Given the description of an element on the screen output the (x, y) to click on. 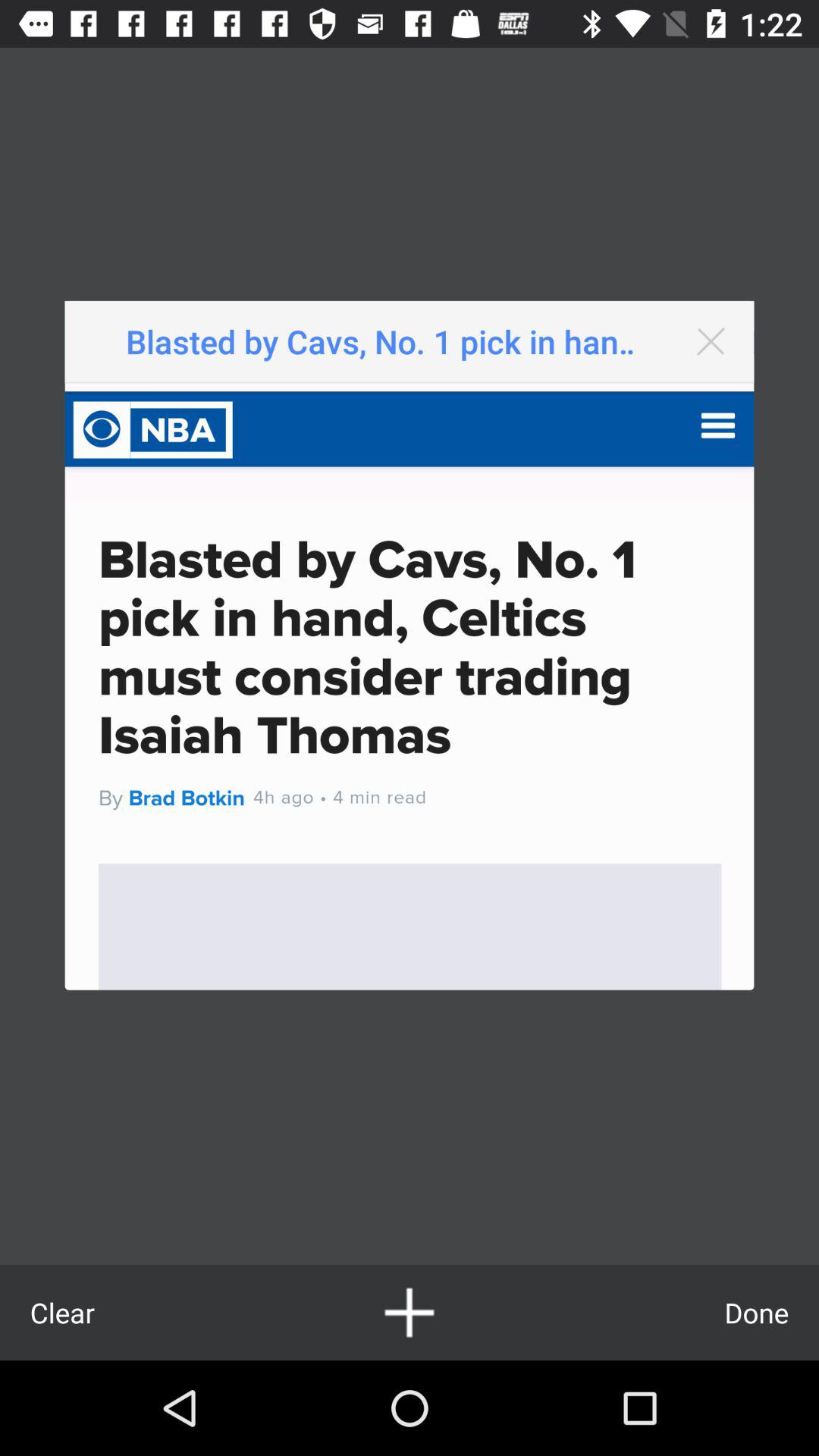
scroll until done item (756, 1312)
